Given the description of an element on the screen output the (x, y) to click on. 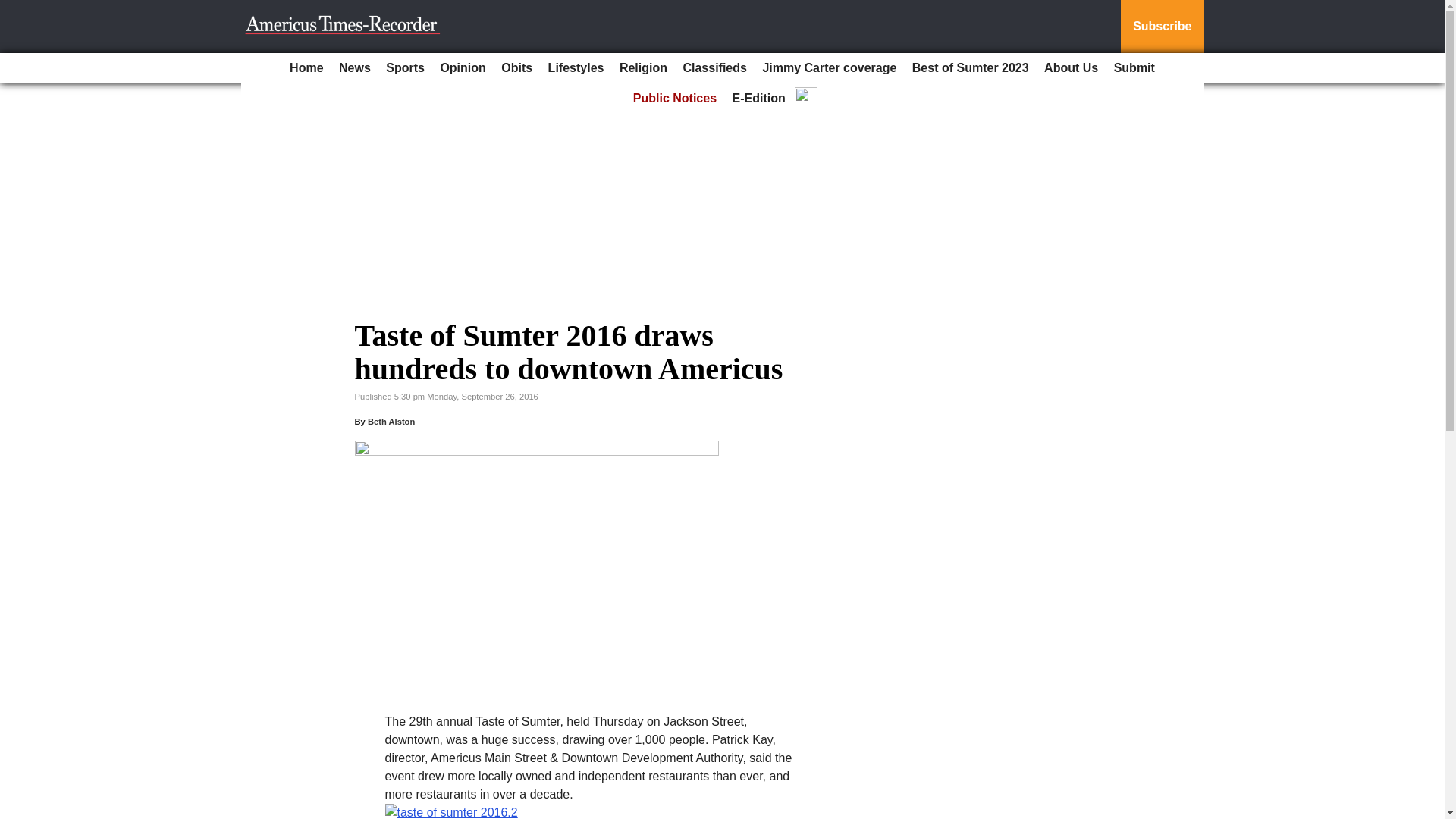
Best of Sumter 2023 (970, 68)
About Us (1070, 68)
Classifieds (714, 68)
Opinion (462, 68)
Obits (516, 68)
Lifestyles (575, 68)
E-Edition (759, 98)
Sports (405, 68)
Go (13, 9)
Subscribe (1162, 26)
